Given the description of an element on the screen output the (x, y) to click on. 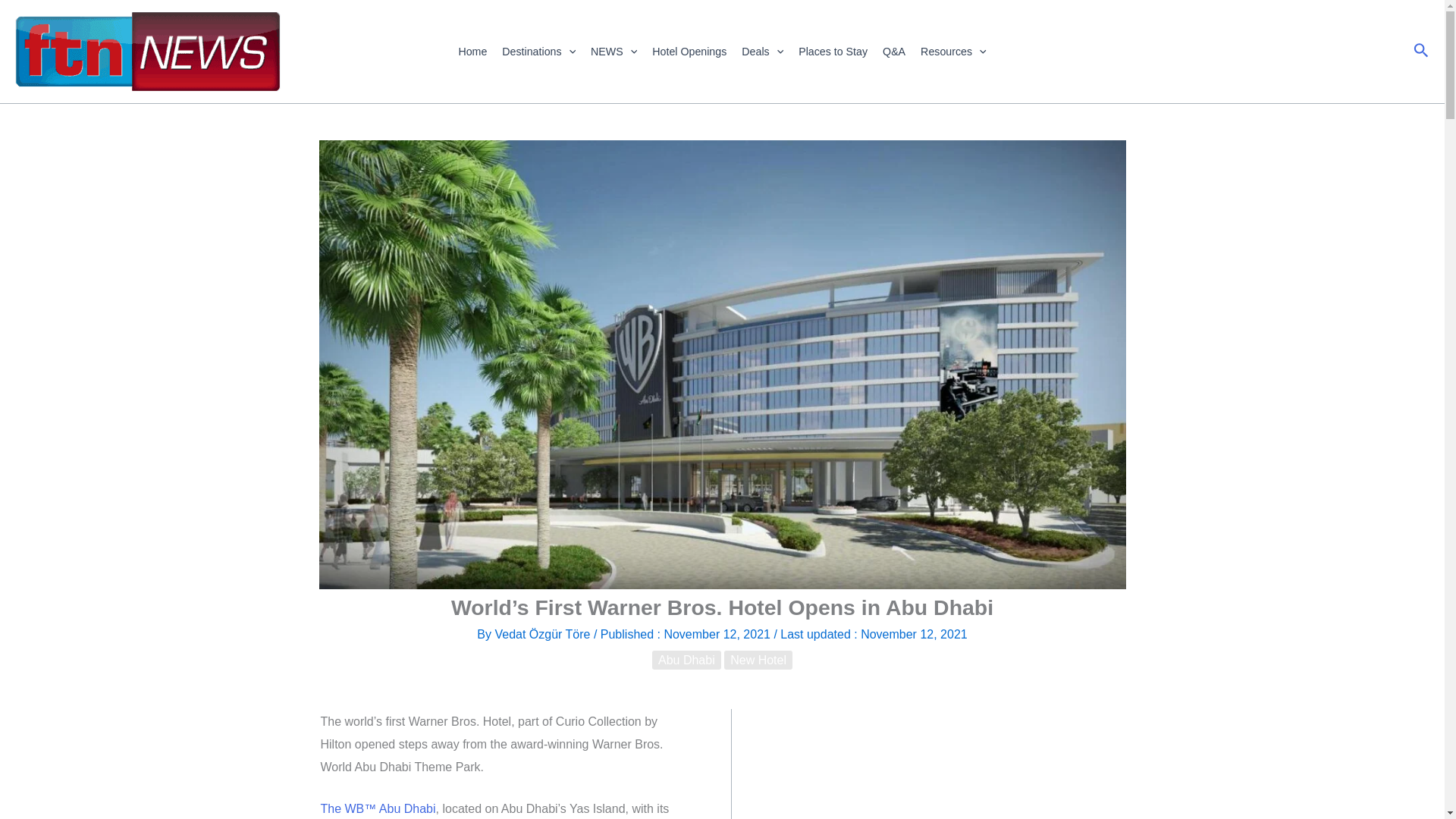
Destinations (539, 51)
NEWS (614, 51)
